Given the description of an element on the screen output the (x, y) to click on. 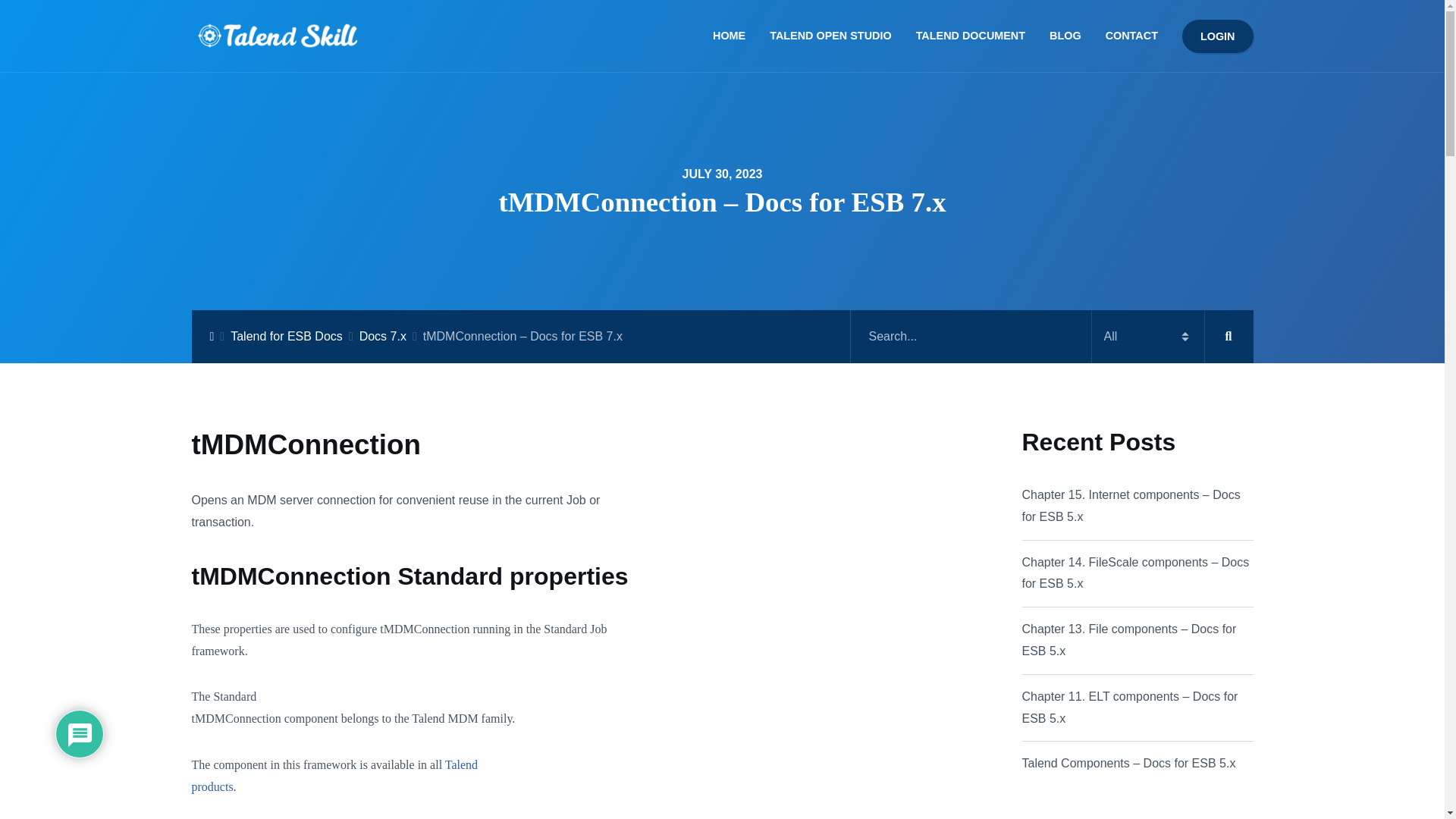
TALEND OPEN STUDIO (333, 775)
CONTACT (829, 36)
LOGIN (1125, 36)
TALEND DOCUMENT (1217, 36)
Talend for ESB Docs (970, 36)
Docs 7.x (286, 336)
BLOG (382, 336)
HOME (1064, 36)
